Given the description of an element on the screen output the (x, y) to click on. 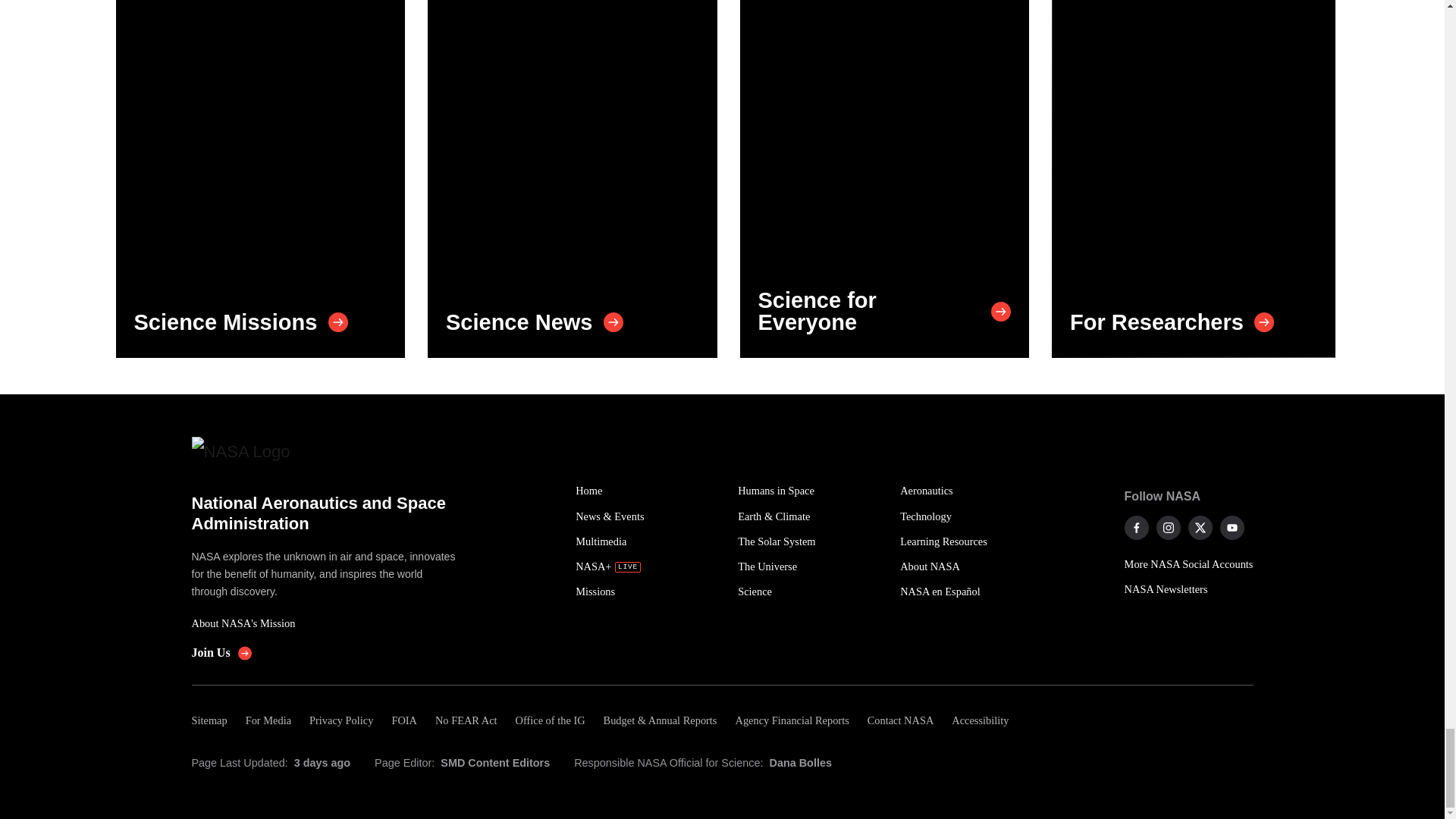
For Media (267, 720)
Sitemap (212, 720)
Privacy Policy (340, 720)
No FEAR Act (466, 720)
FOIA (403, 720)
